Given the description of an element on the screen output the (x, y) to click on. 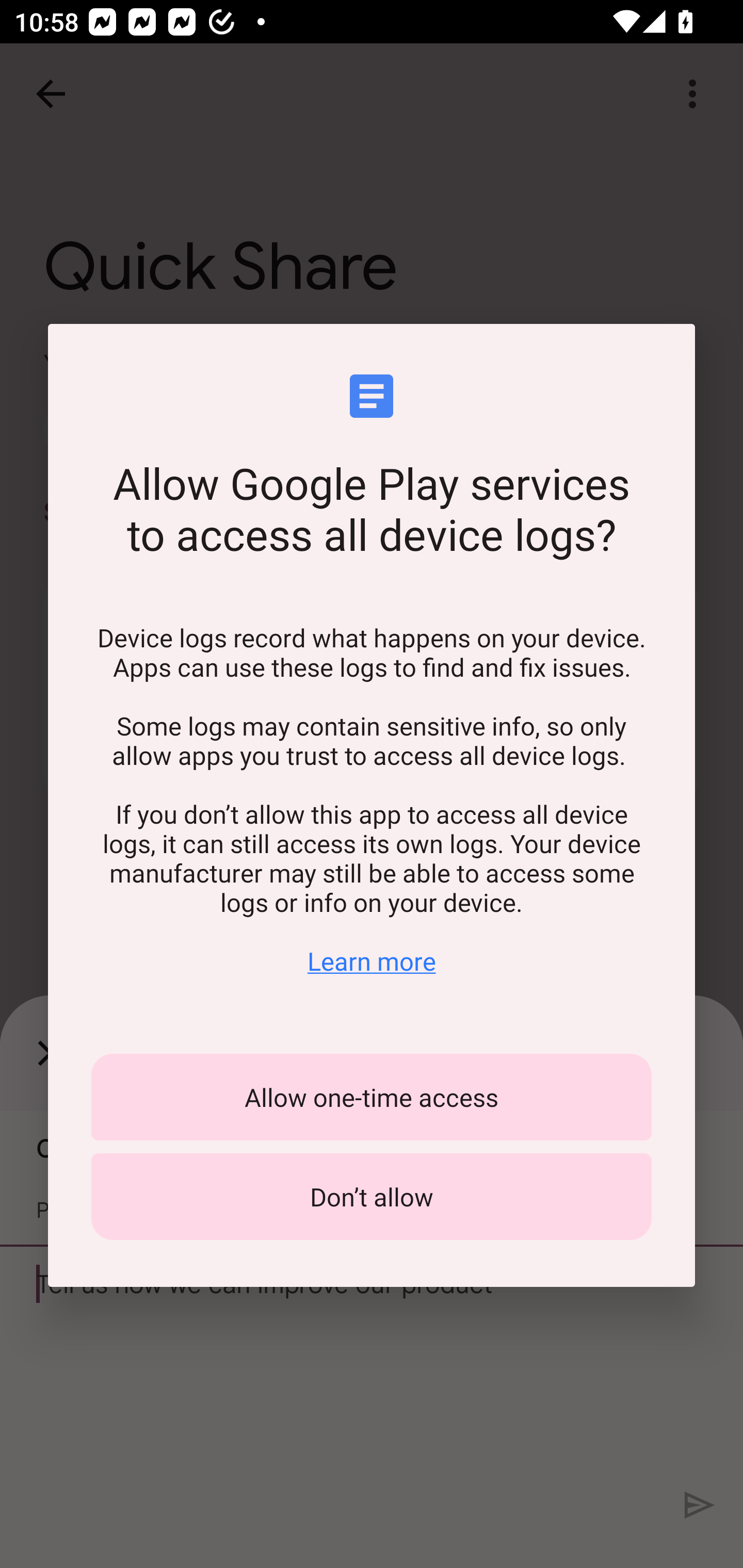
Allow one-time access (371, 1096)
Don’t allow (371, 1197)
